Given the description of an element on the screen output the (x, y) to click on. 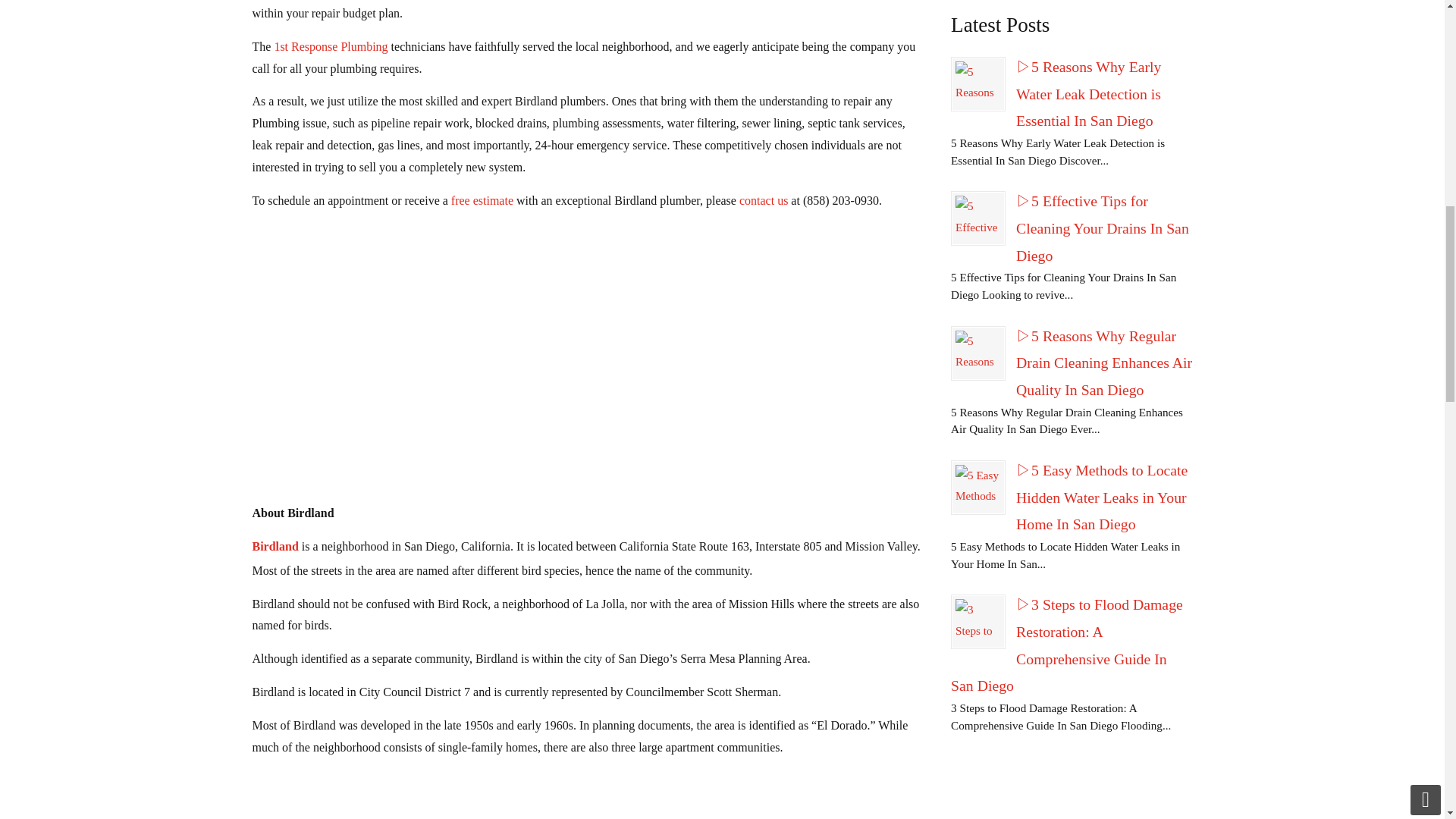
free estimate (482, 200)
Birdland (274, 545)
1st Response Plumbing (330, 46)
contact us (763, 200)
